Given the description of an element on the screen output the (x, y) to click on. 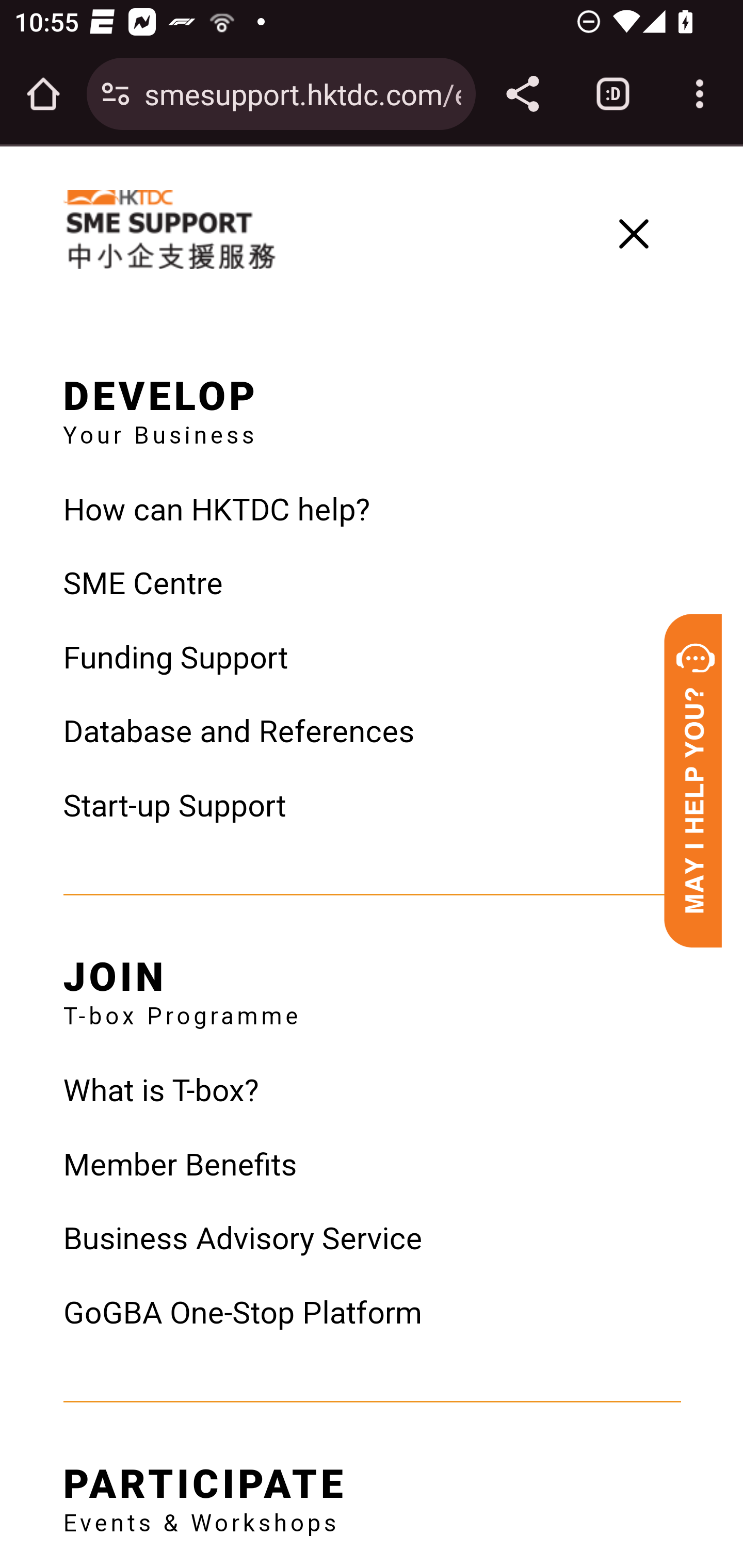
Open the home page (43, 93)
Connection is secure (115, 93)
Share (522, 93)
Switch or close tabs (612, 93)
Customize and control Google Chrome (699, 93)
HKTDC SME Support (169, 229)
Toggle navigation (638, 233)
DEVELOP Your Business (160, 404)
JOIN T-box Programme (182, 986)
PARTICIPATE Events & Workshops (204, 1492)
